Given the description of an element on the screen output the (x, y) to click on. 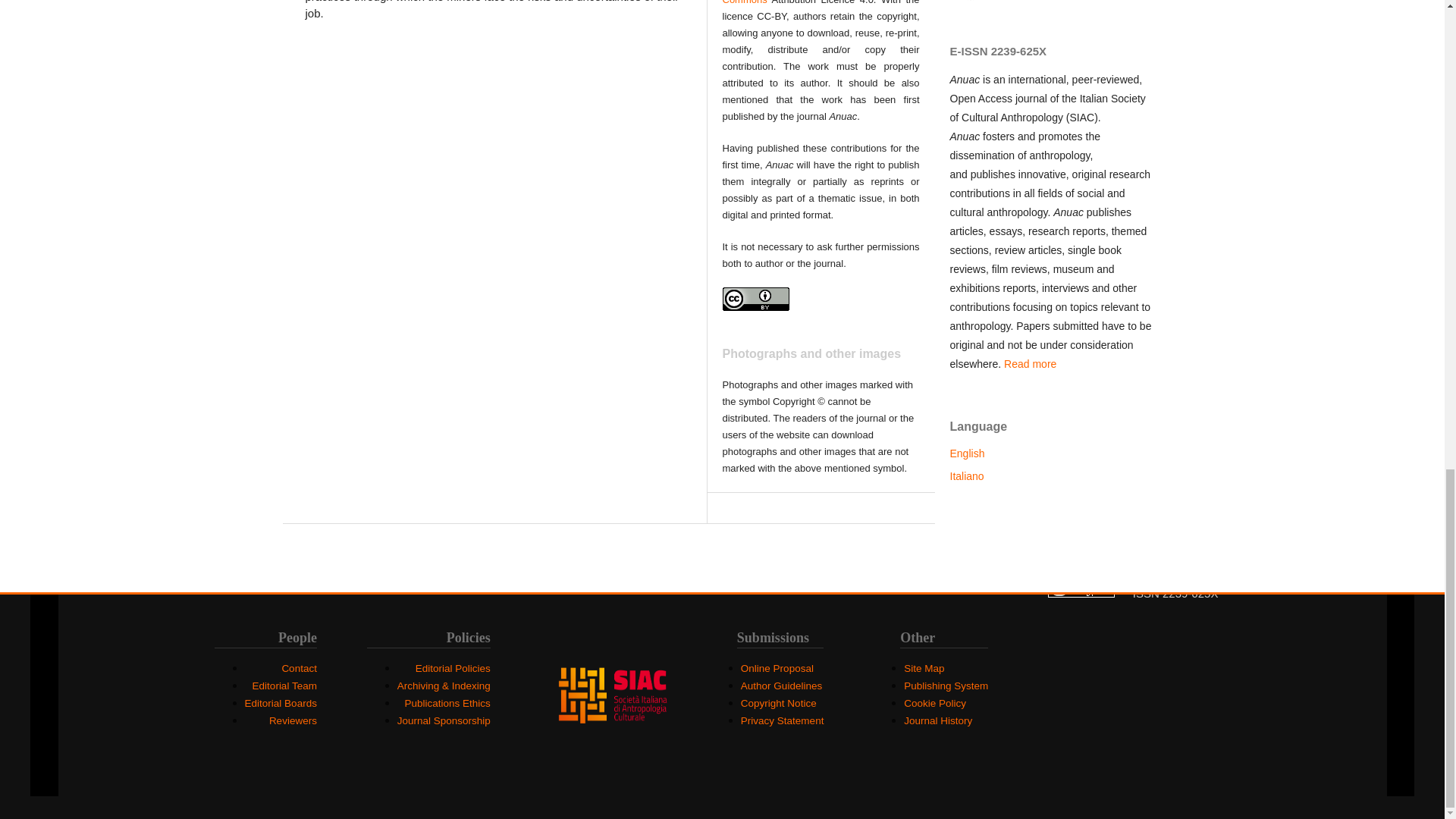
Contact Anuac Journal (299, 668)
Publications Ethics (447, 703)
Advisory Editorial Board (280, 703)
Author Guidelines (781, 685)
Editorial Team (284, 685)
Creative Commons (820, 2)
Reviewers (293, 720)
Editorial Policies (452, 668)
Journal Sponsorship (443, 720)
